Given the description of an element on the screen output the (x, y) to click on. 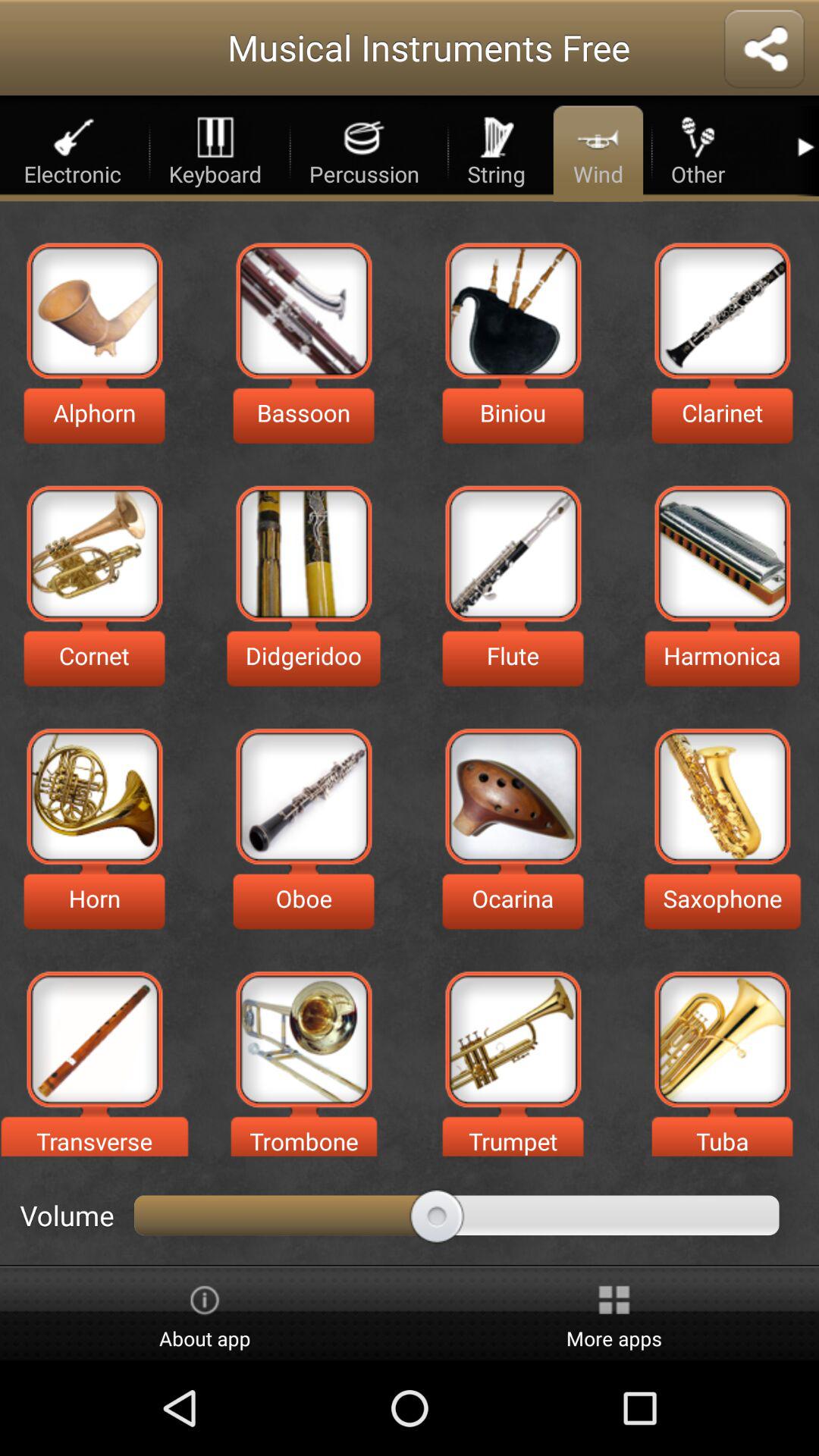
play alphorn (94, 310)
